Given the description of an element on the screen output the (x, y) to click on. 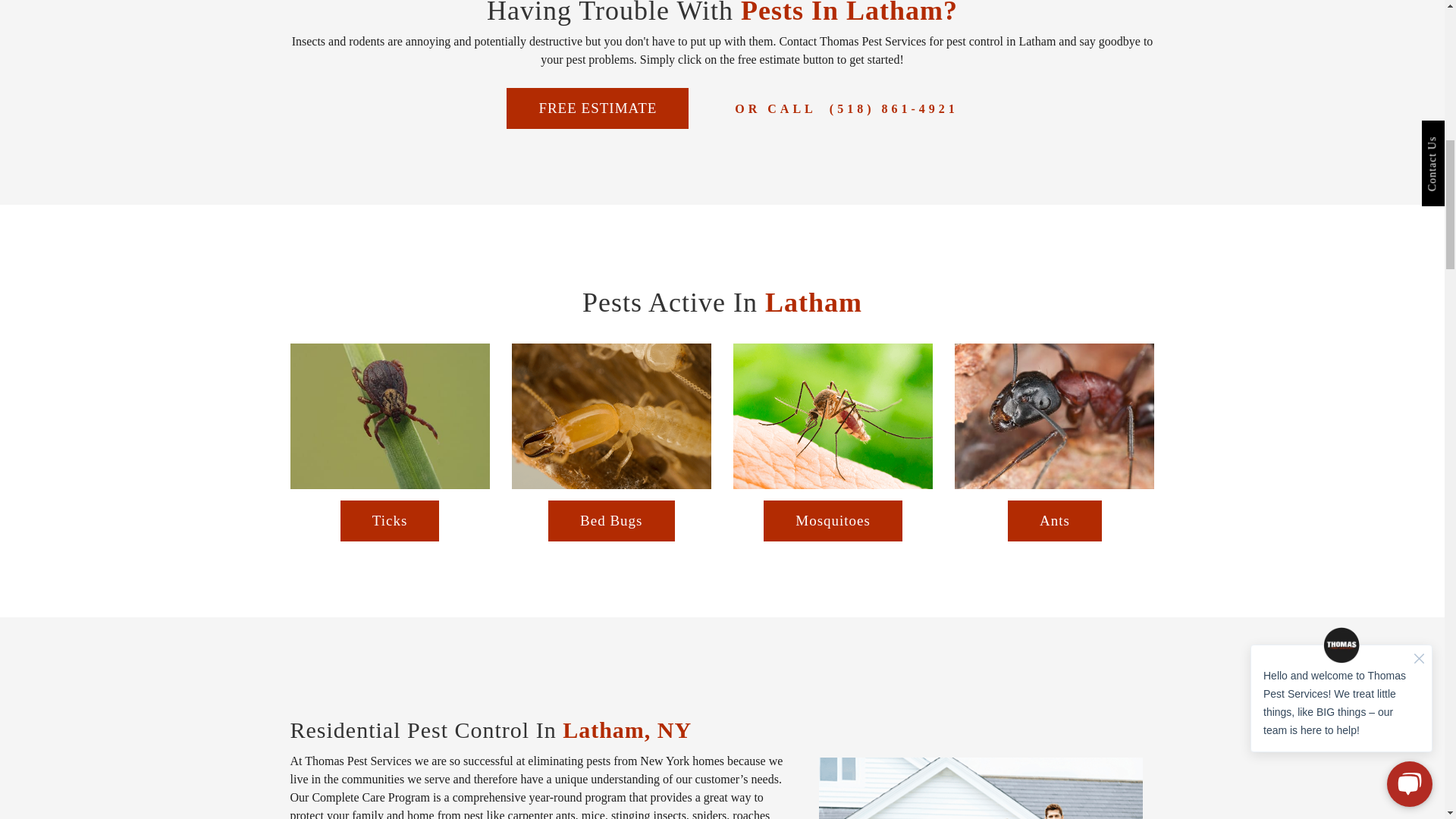
albany-ny-tick-control-1 (389, 415)
termites (611, 415)
mosquito-bite (833, 415)
family-in-front-of-latham-ny-home (980, 788)
carpenter-ant-control-albany-ny-1 (1054, 415)
